Given the description of an element on the screen output the (x, y) to click on. 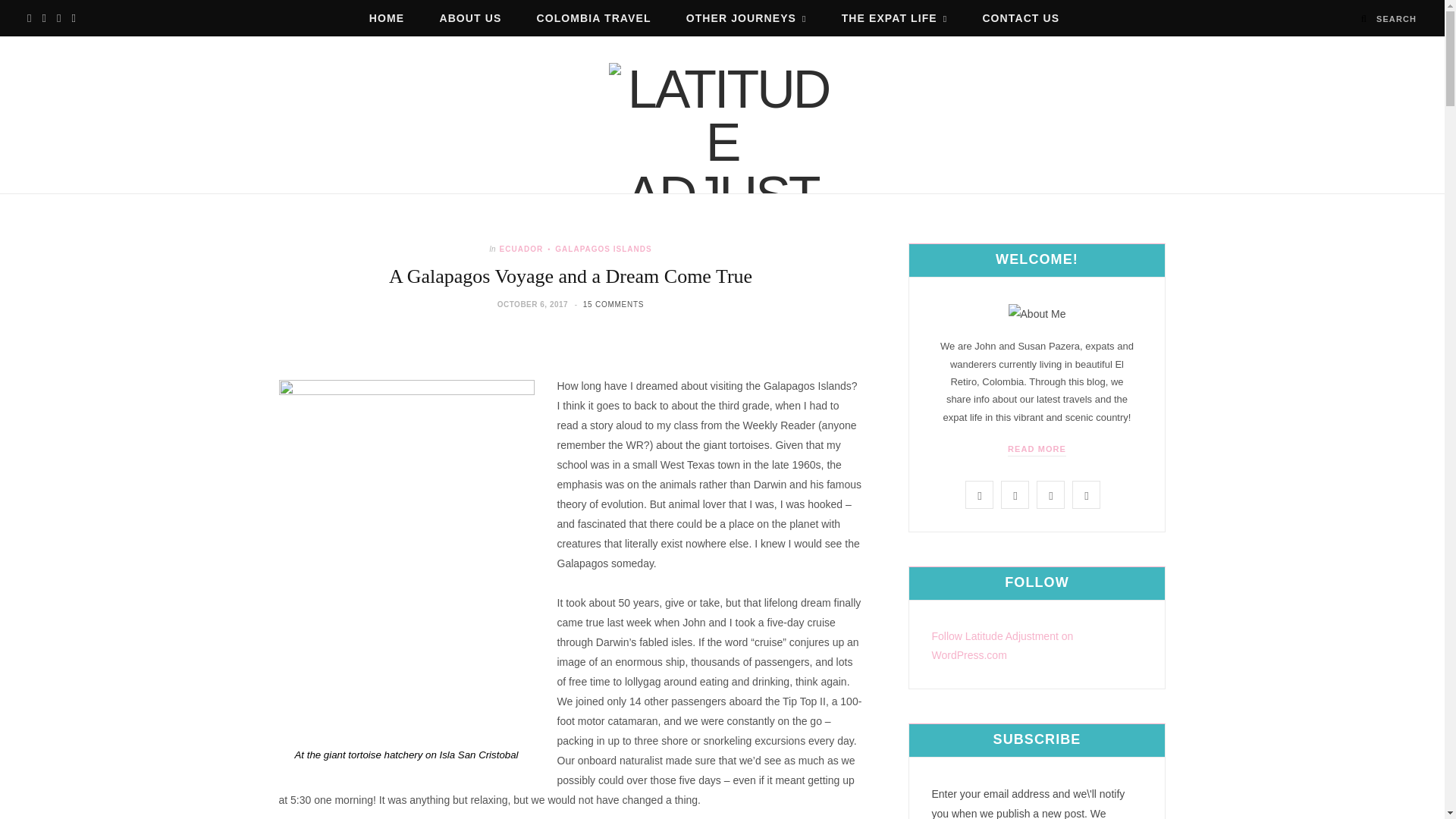
OTHER JOURNEYS (745, 18)
HOME (386, 18)
OCTOBER 6, 2017 (533, 304)
15 COMMENTS (613, 304)
THE EXPAT LIFE (894, 18)
ABOUT US (469, 18)
COLOMBIA TRAVEL (592, 18)
CONTACT US (1020, 18)
Latitude Adjustment (721, 128)
ECUADOR (521, 248)
GALAPAGOS ISLANDS (597, 248)
